Given the description of an element on the screen output the (x, y) to click on. 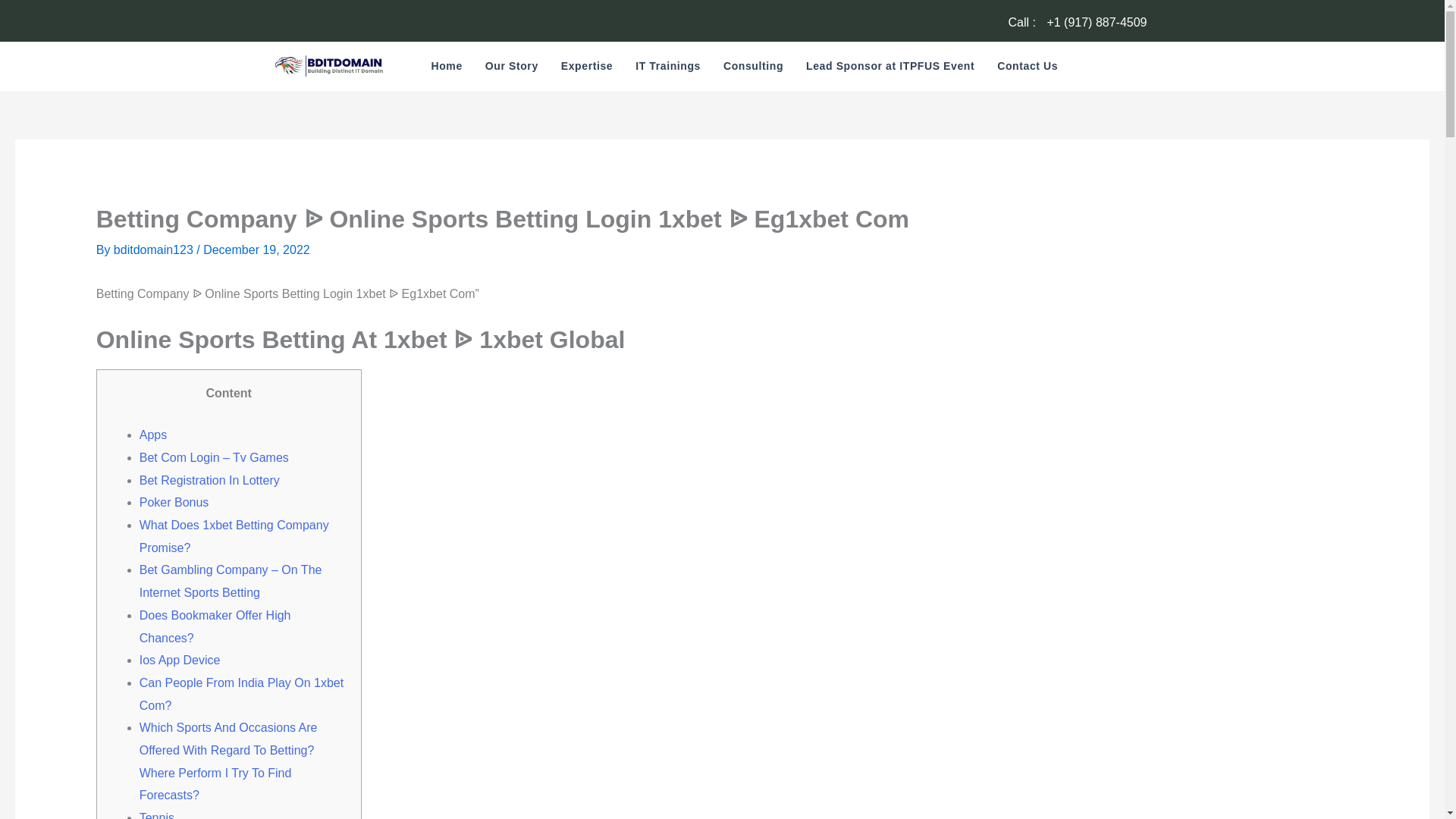
Does Bookmaker Offer High Chances? (215, 626)
Bet Registration In Lottery (209, 480)
Our Story (512, 65)
Expertise (587, 65)
Lead Sponsor at ITPFUS Event (889, 65)
Contact Us (1026, 65)
Consulting (752, 65)
What Does 1xbet Betting Company Promise? (234, 536)
Call : (1023, 21)
IT Trainings (667, 65)
